Given the description of an element on the screen output the (x, y) to click on. 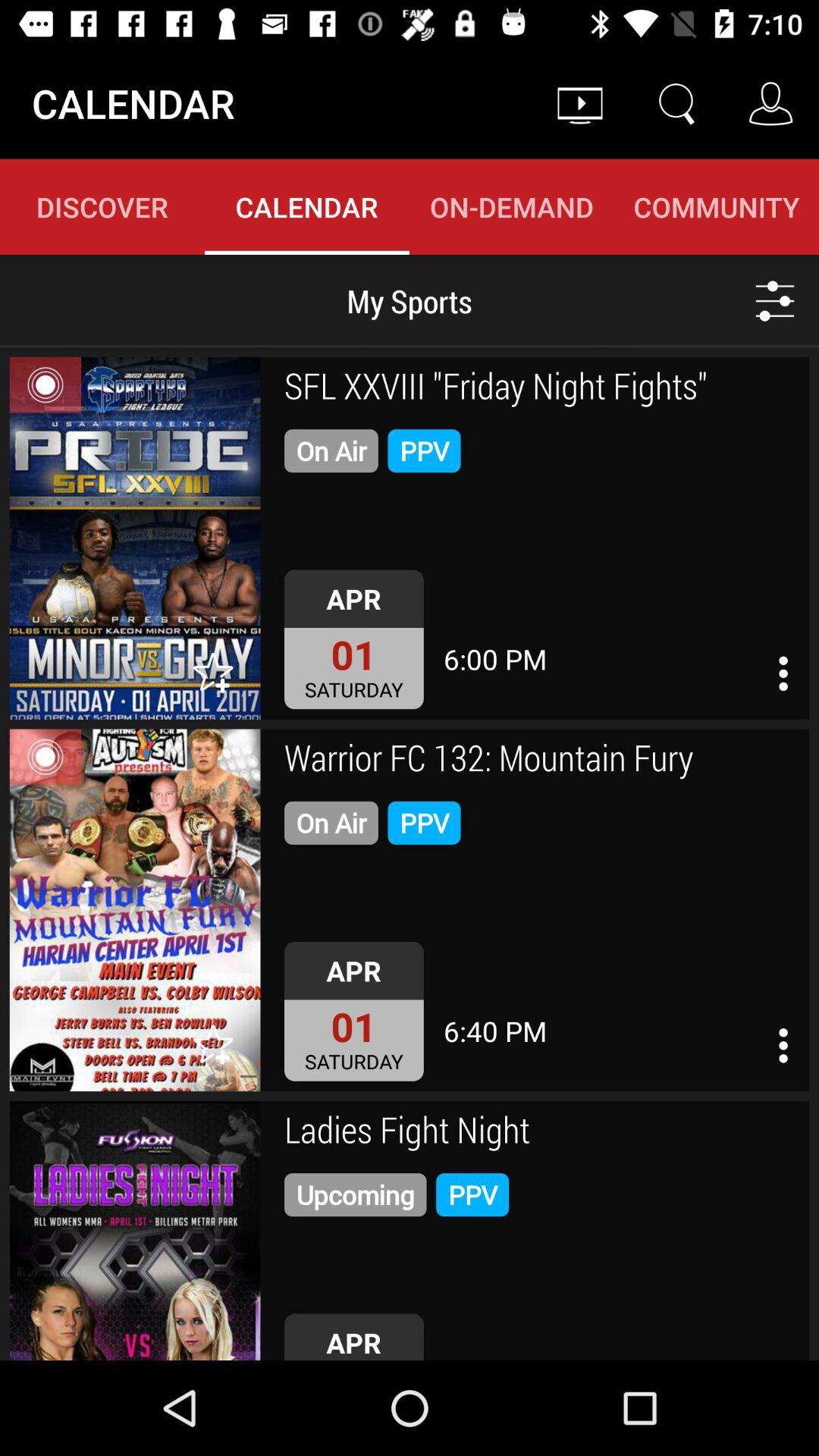
toggle more option (783, 1045)
